Given the description of an element on the screen output the (x, y) to click on. 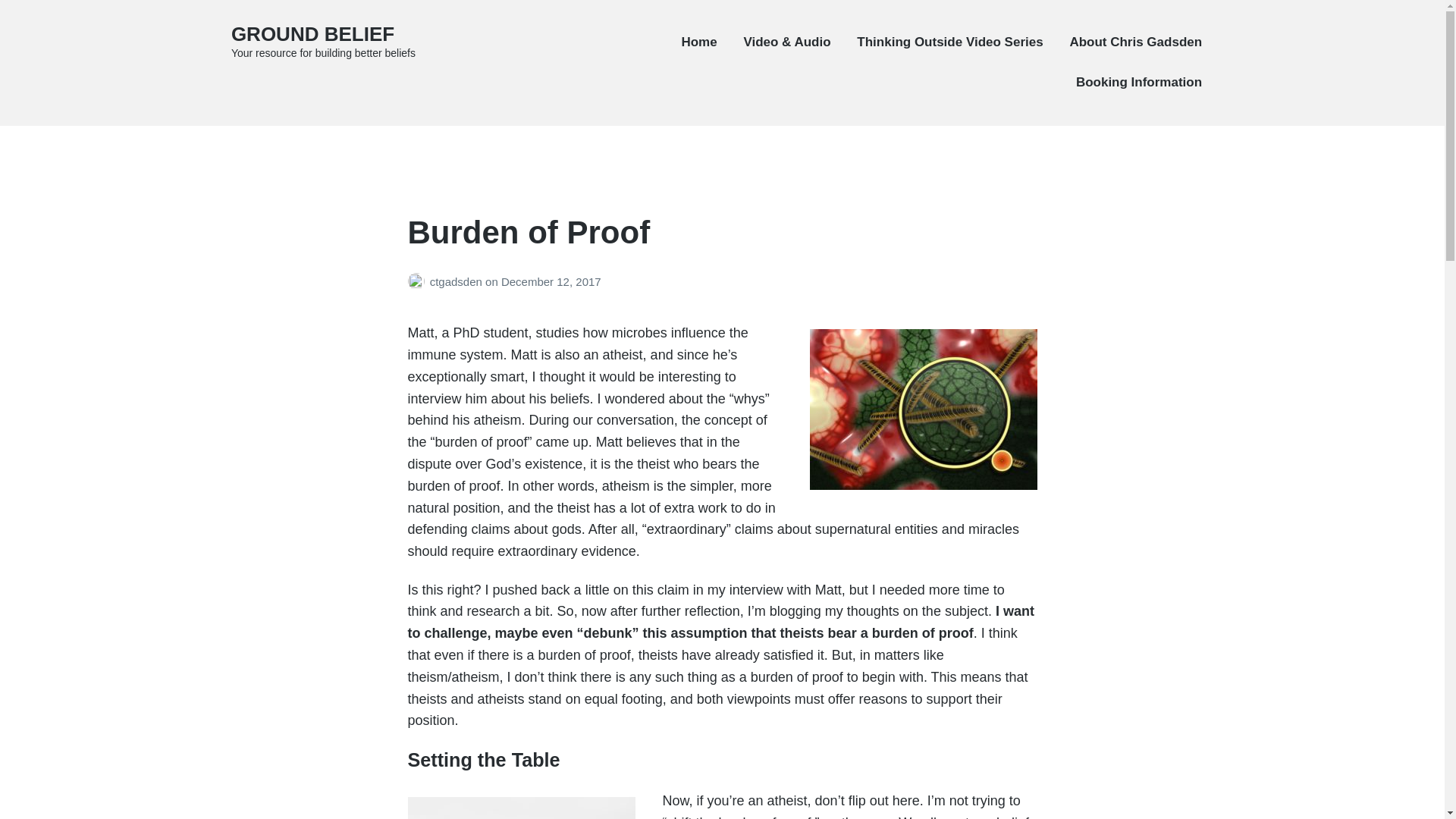
Booking Information (1138, 82)
Home (698, 42)
Thinking Outside Video Series (949, 42)
ctgadsden (456, 281)
Posts by ctgadsden (418, 281)
GROUND BELIEF (312, 33)
About Chris Gadsden (1135, 42)
